Given the description of an element on the screen output the (x, y) to click on. 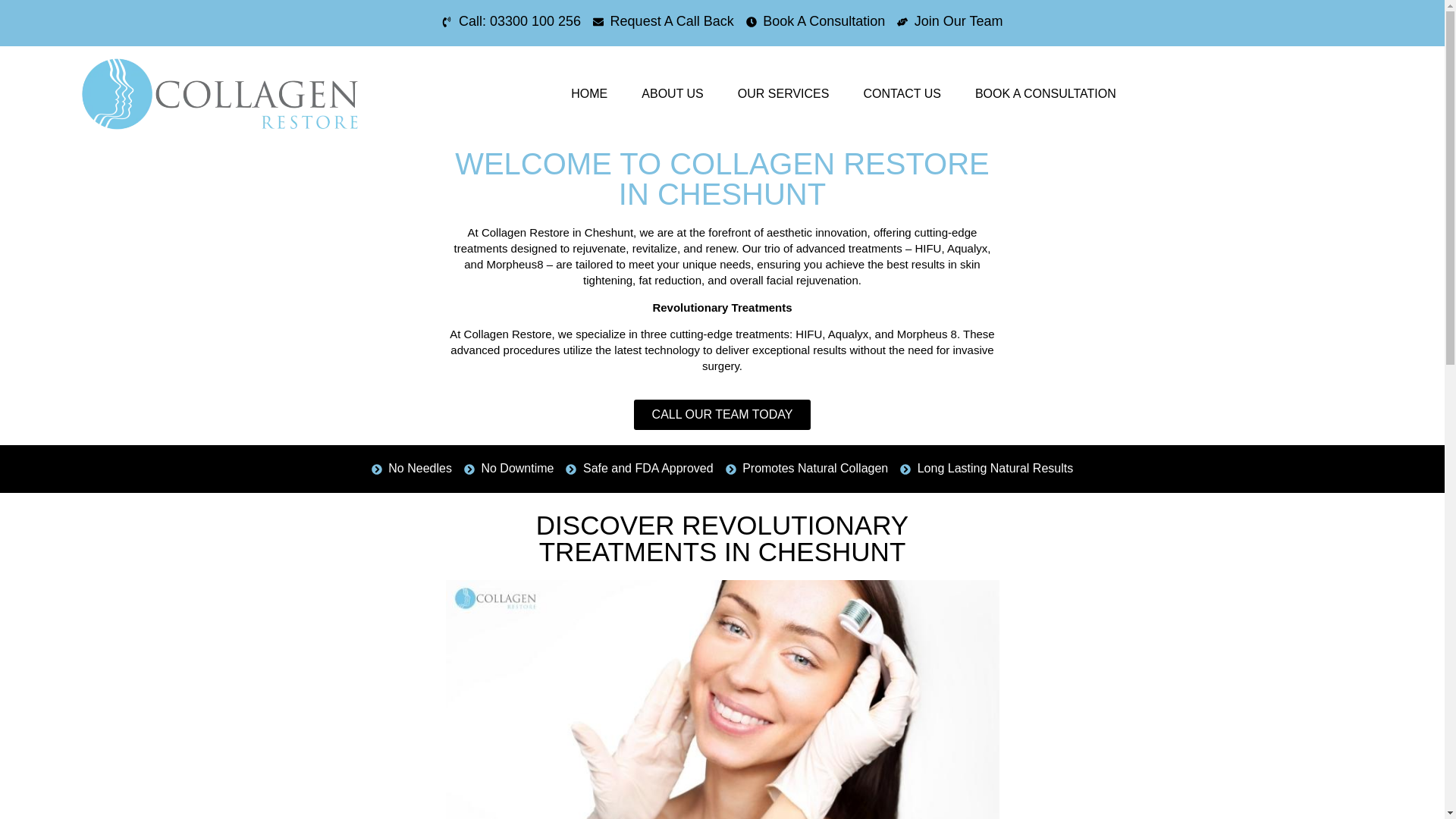
HOME (589, 93)
Join Our Team (949, 21)
ABOUT US (672, 93)
HIFU Cheshunt 1 (721, 699)
BOOK A CONSULTATION (1045, 93)
Safe and FDA Approved (639, 468)
CONTACT US (901, 93)
CALL OUR TEAM TODAY (721, 414)
Request A Call Back (662, 21)
OUR SERVICES (783, 93)
Call: 03300 100 256 (510, 21)
Book A Consultation (815, 21)
